Given the description of an element on the screen output the (x, y) to click on. 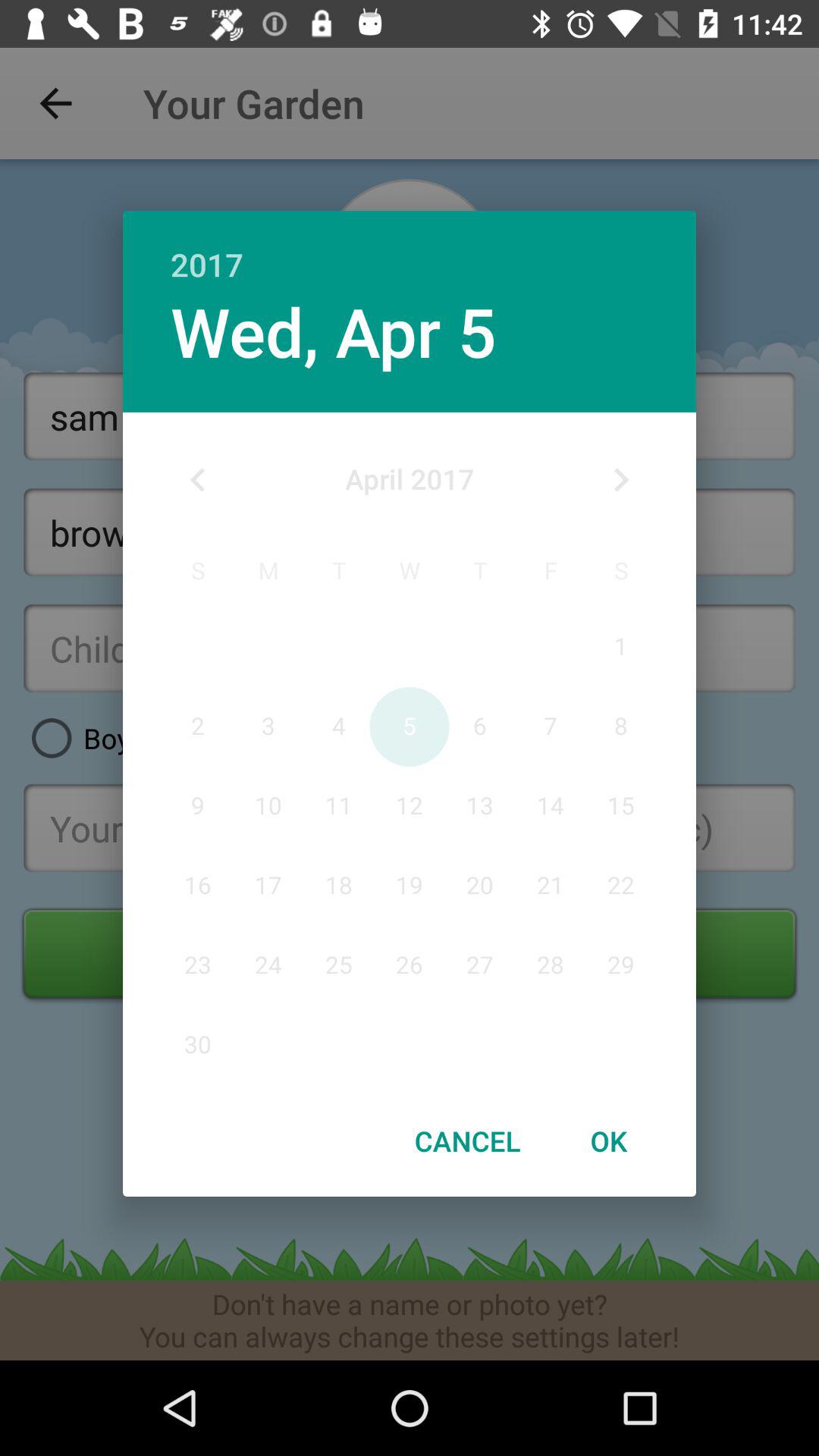
press item above the wed, apr 5 icon (409, 248)
